Given the description of an element on the screen output the (x, y) to click on. 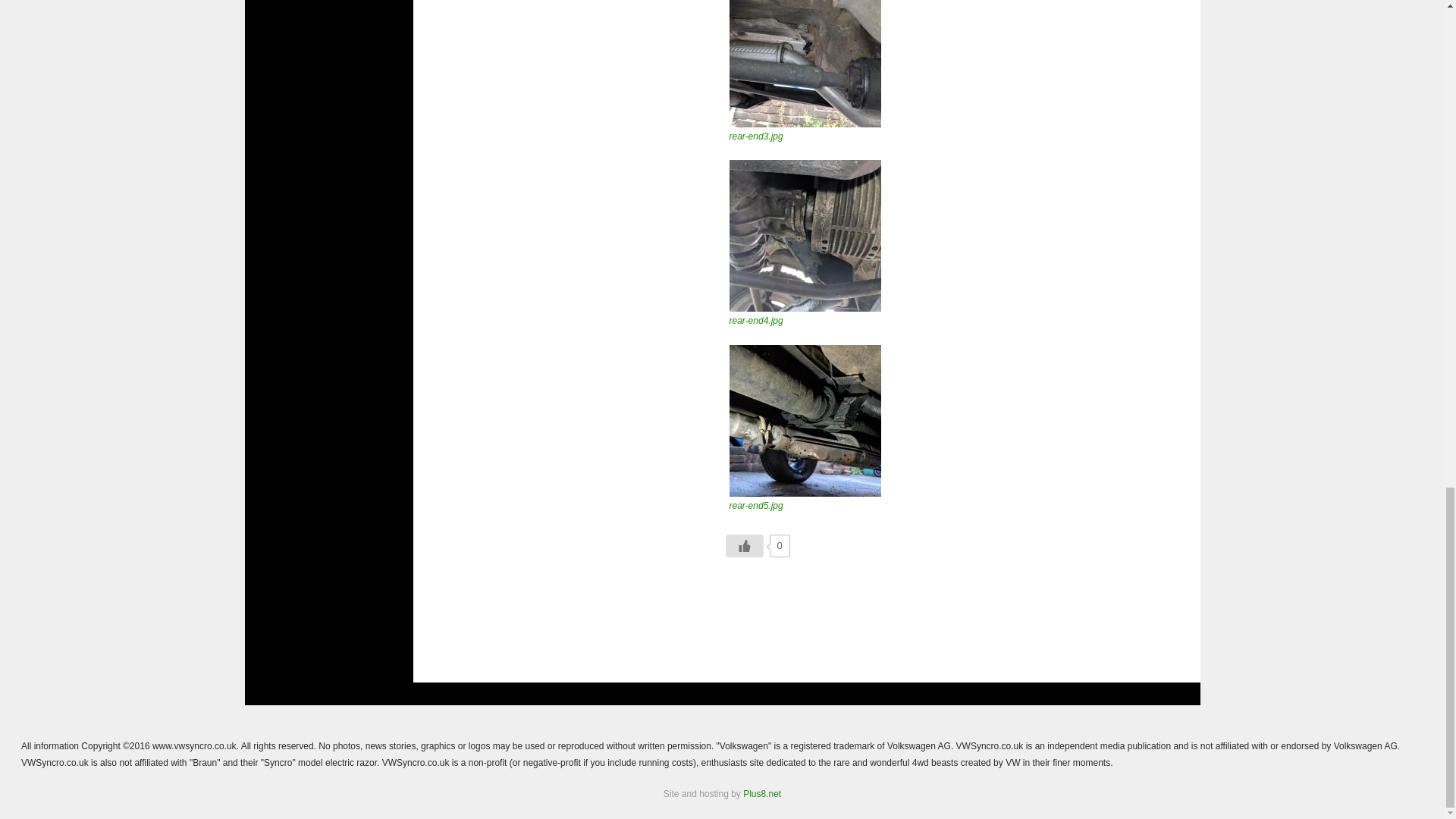
rear-end5.jpg (756, 505)
rear-end3.jpg (756, 136)
rear-end4.jpg (756, 320)
Firebeans crystal healing (624, 810)
rear-end4.jpg (804, 235)
rear-end3.jpg (804, 63)
Plus8.net (761, 793)
rear-end5.jpg (804, 420)
